Given the description of an element on the screen output the (x, y) to click on. 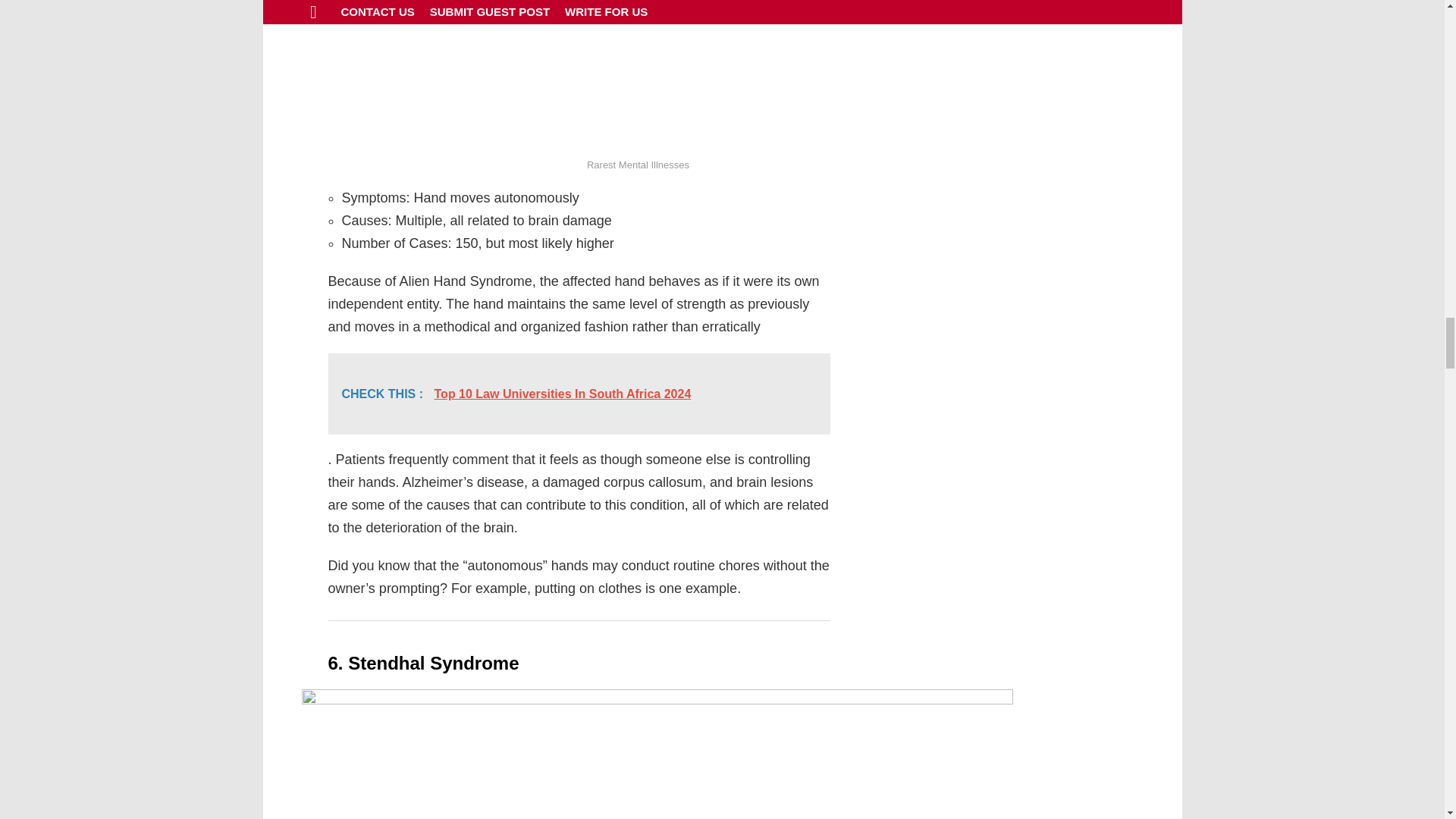
CHECK THIS :   Top 10 Law Universities In South Africa 2024 (578, 393)
